Given the description of an element on the screen output the (x, y) to click on. 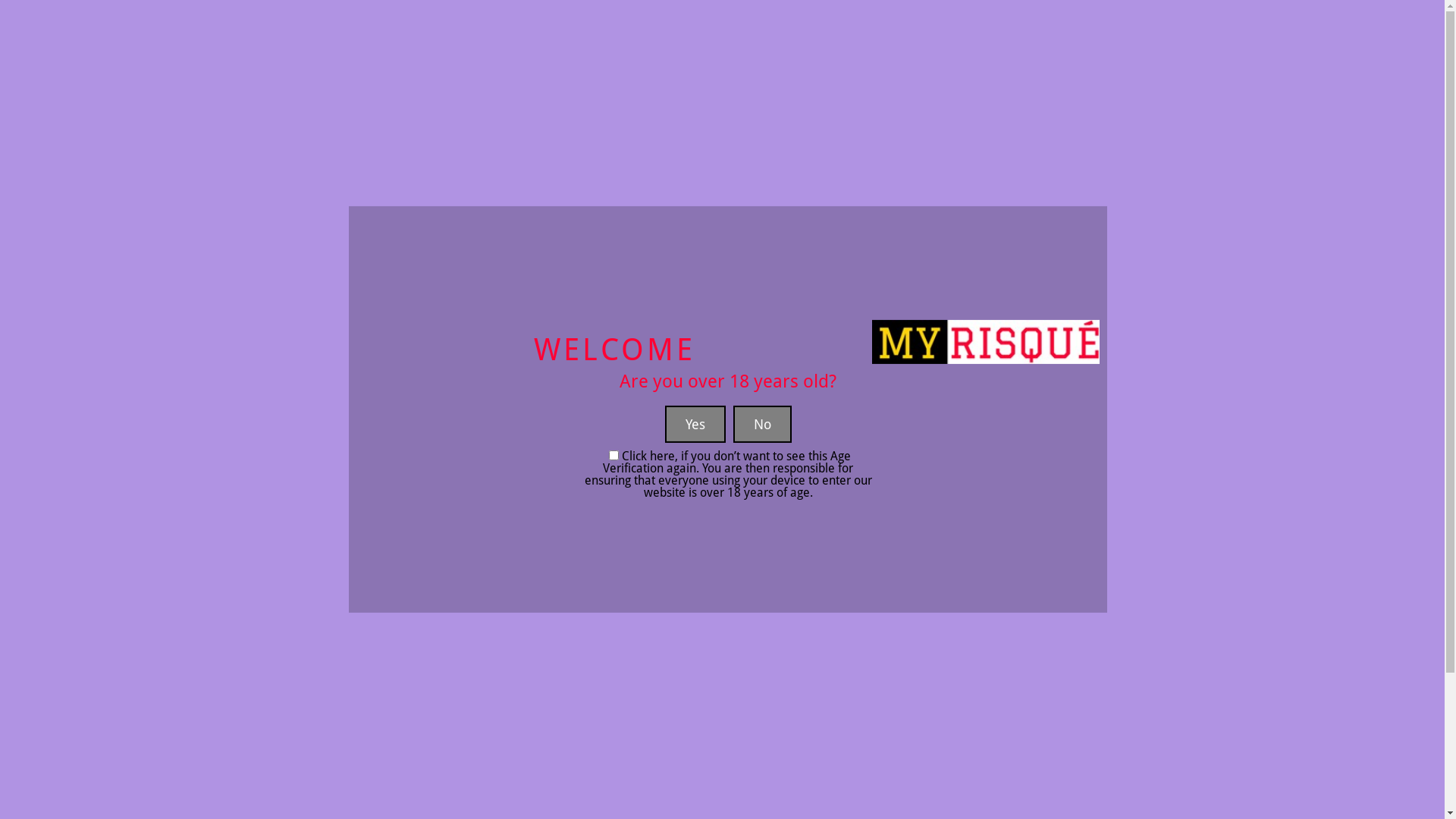
GIFT & GAMES Element type: text (898, 139)
TOYS FOR BOTH Element type: text (545, 139)
Basket Element type: text (320, 789)
ESSENTIALS Element type: text (652, 139)
Yes Element type: text (694, 423)
FETISH Element type: text (811, 139)
Pay Later with zipPay Element type: text (355, 767)
Instagram Element type: text (704, 769)
Shopify online store chat Element type: hover (1409, 780)
My Account Element type: text (332, 811)
Login Element type: text (1148, 13)
Share on Facebook Element type: text (1117, 535)
Add to cart Element type: text (1215, 398)
ADD TO CART Element type: text (1019, 369)
TOYS FOR HIM Element type: text (434, 139)
TOYS FOR HER Element type: text (326, 139)
+ Element type: text (873, 369)
Add to cart Element type: text (1043, 398)
Contact Us Element type: text (503, 767)
Privacy Statement Element type: text (520, 811)
No Element type: text (761, 423)
Add to cart Element type: text (697, 398)
Pinterest Element type: text (677, 769)
Search Element type: text (1104, 139)
Pin on Pinterest Element type: text (1144, 535)
Cart Element type: text (1138, 139)
About Us Element type: text (498, 789)
Facebook Element type: text (648, 769)
LINGERIE Element type: text (738, 139)
Add to cart Element type: text (870, 398)
